Given the description of an element on the screen output the (x, y) to click on. 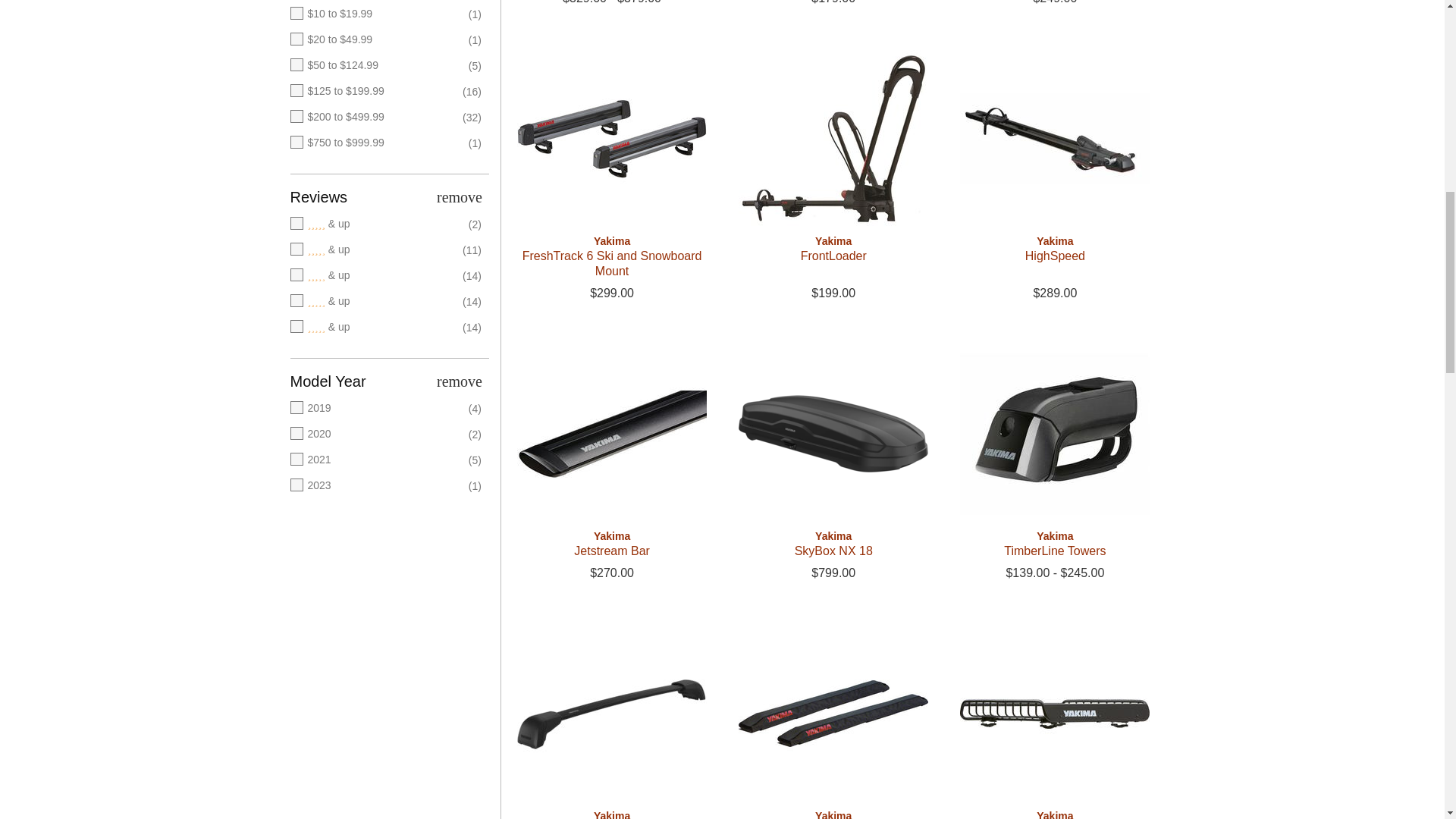
5 (375, 224)
2 (375, 301)
1 (375, 327)
3 (375, 275)
4 (375, 249)
